Given the description of an element on the screen output the (x, y) to click on. 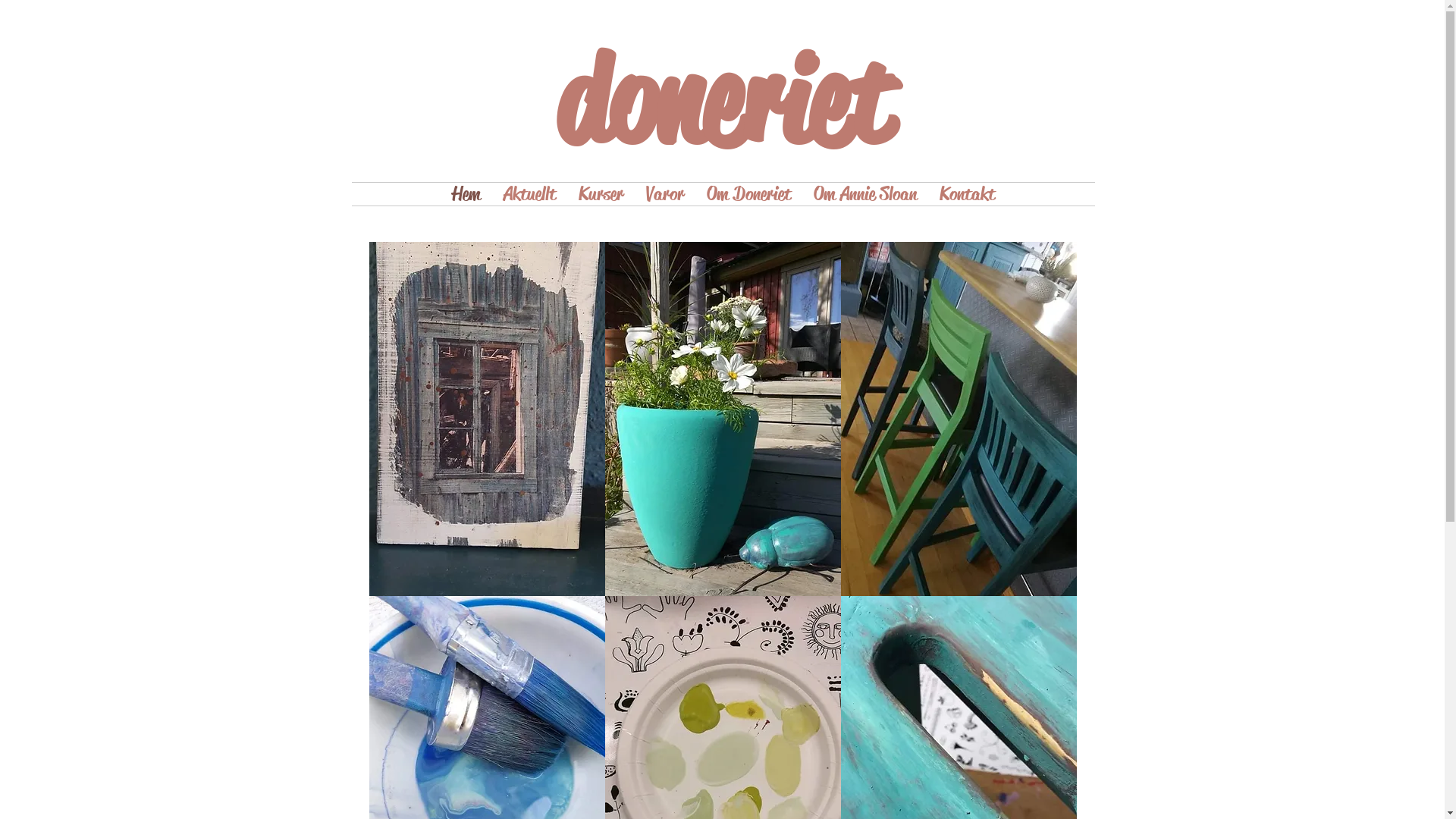
doneriet Element type: text (723, 101)
Kurser Element type: text (600, 193)
Om Annie Sloan Element type: text (865, 193)
Hem Element type: text (465, 193)
Kontakt Element type: text (967, 193)
Om Doneriet Element type: text (747, 193)
Aktuellt Element type: text (528, 193)
Varor Element type: text (663, 193)
